Given the description of an element on the screen output the (x, y) to click on. 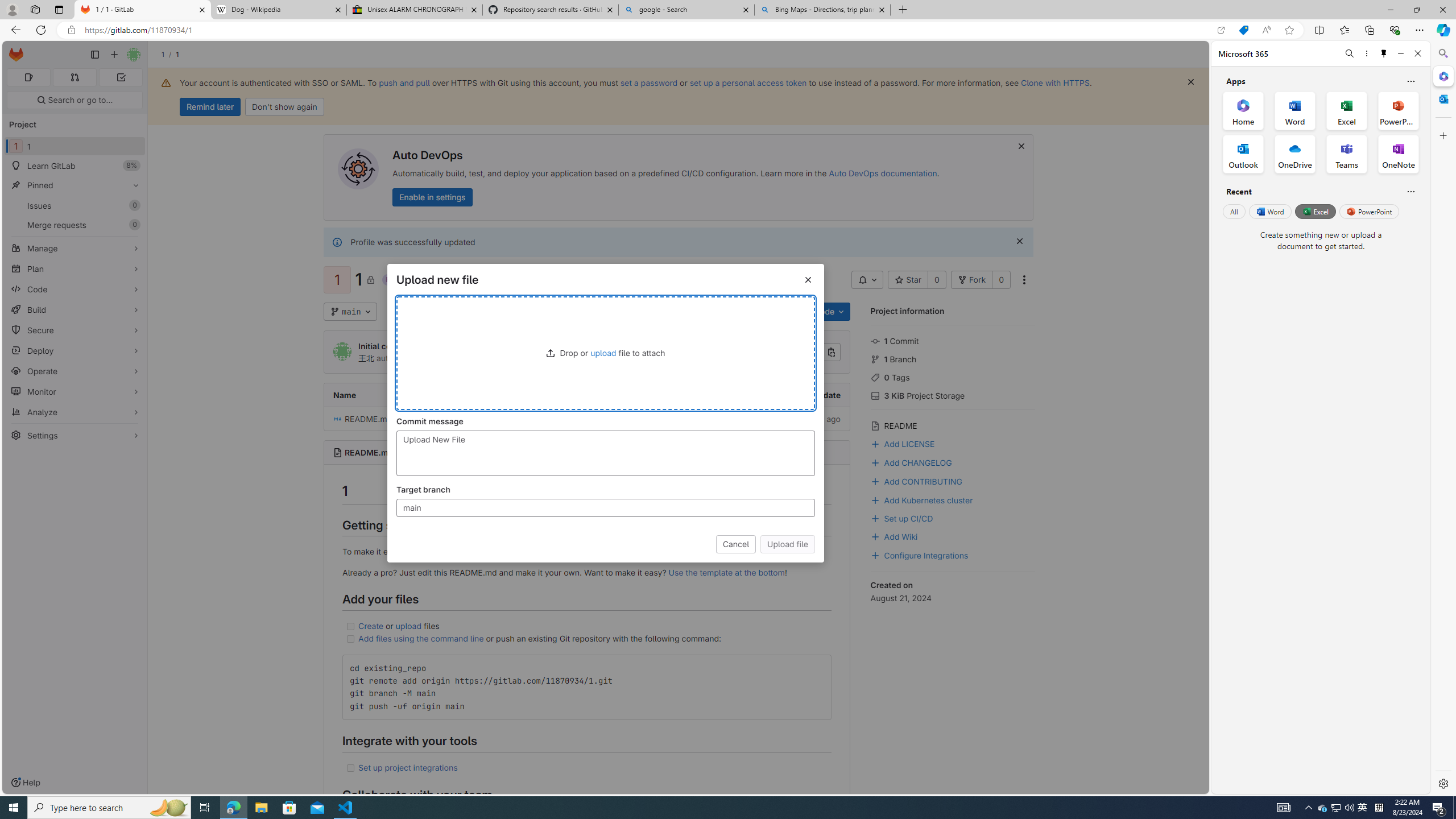
Remind later (210, 106)
Pinned (74, 185)
History (692, 311)
Build (74, 309)
Excel Office App (1346, 110)
Secure (74, 330)
Merge requests 0 (74, 76)
Monitor (74, 391)
Set up CI/CD (901, 517)
README.md (368, 452)
